Given the description of an element on the screen output the (x, y) to click on. 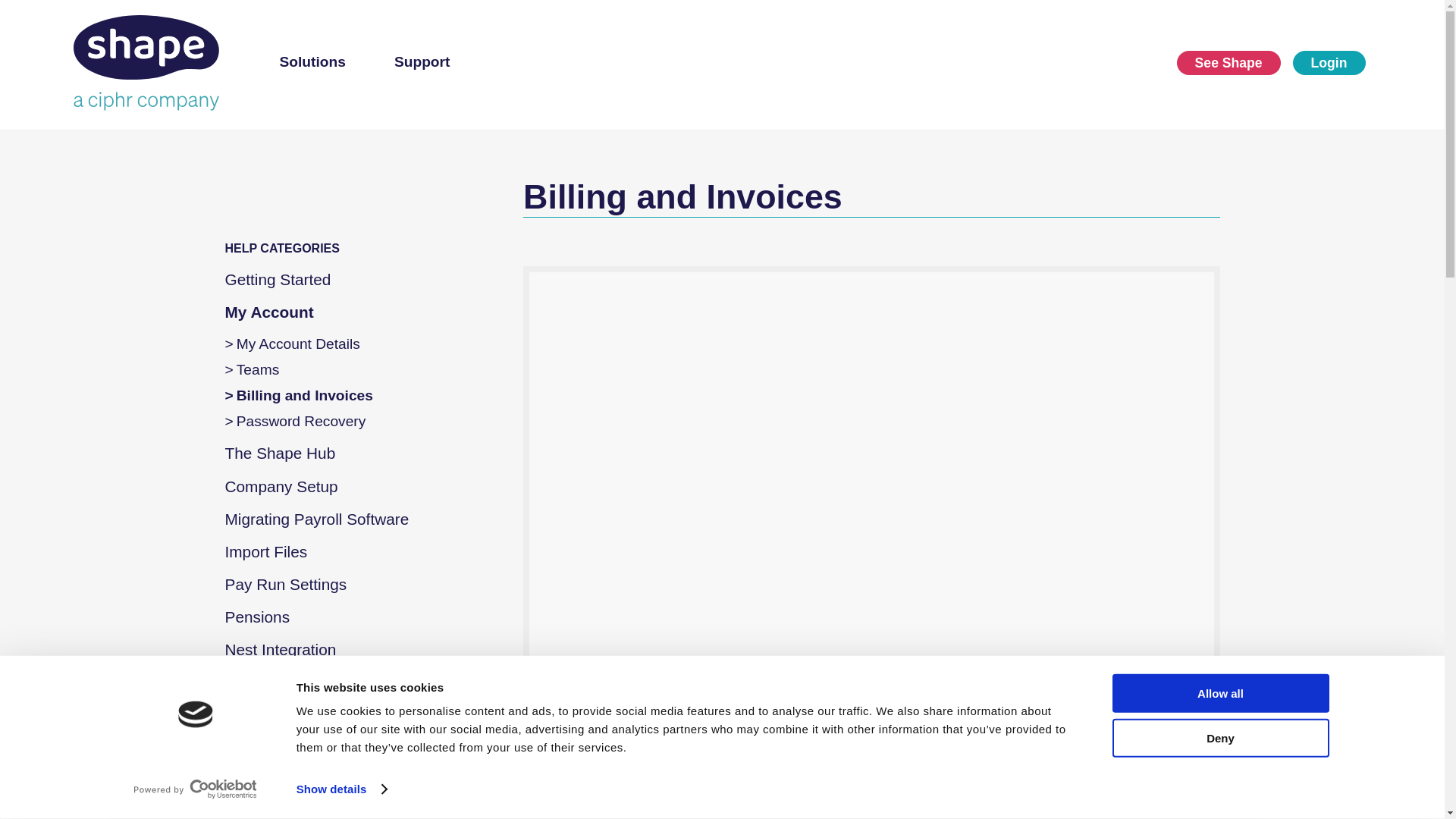
Deny (1219, 738)
Login (1328, 62)
Solutions (312, 64)
Show details (341, 789)
See Shape (1228, 62)
Support (421, 64)
Allow all (1219, 693)
